Given the description of an element on the screen output the (x, y) to click on. 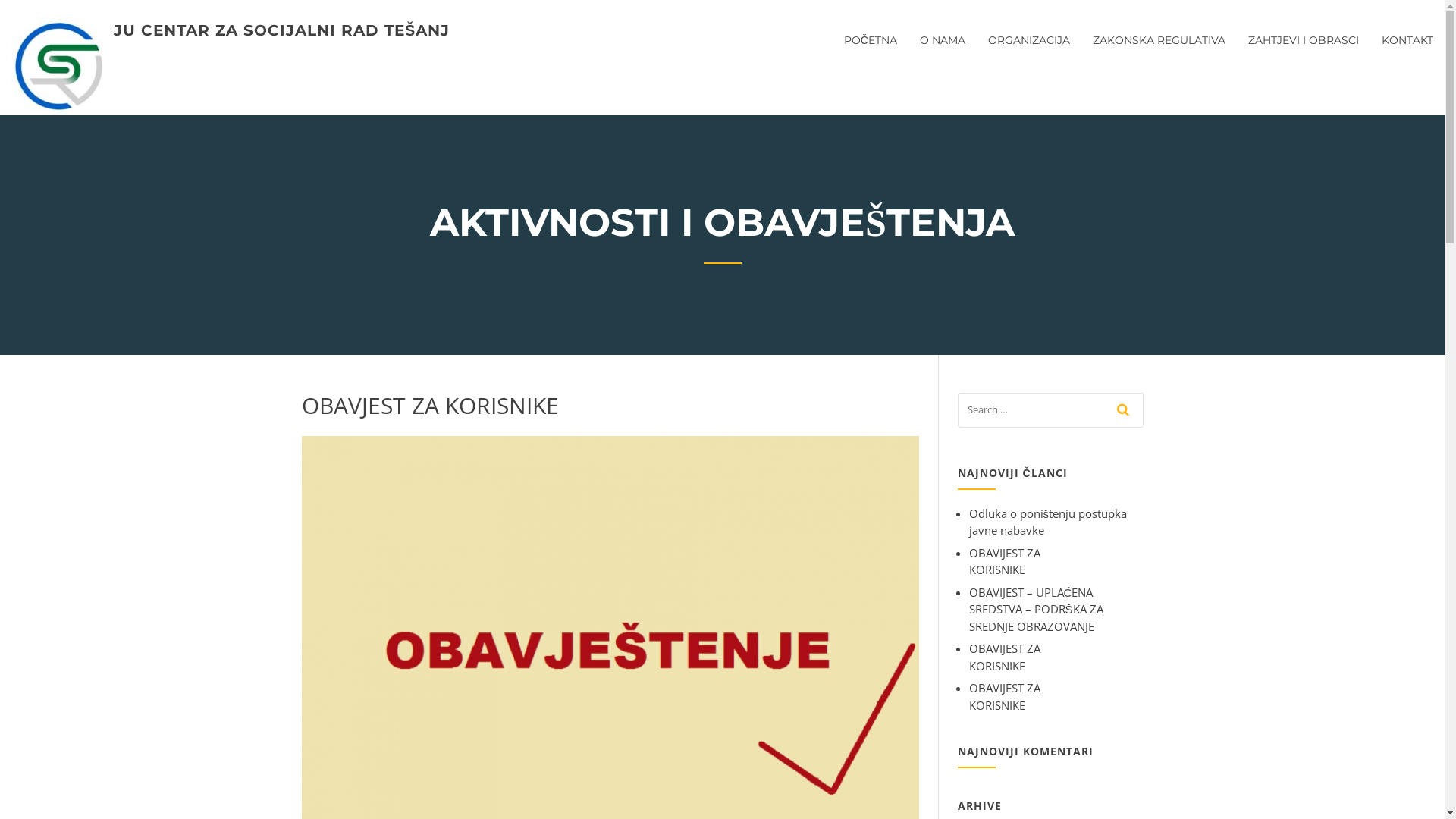
ZAHTJEVI I OBRASCI Element type: text (1303, 49)
ZAKONSKA REGULATIVA Element type: text (1158, 49)
ORGANIZACIJA Element type: text (1028, 49)
KONTAKT Element type: text (1401, 49)
O NAMA Element type: text (942, 49)
